Given the description of an element on the screen output the (x, y) to click on. 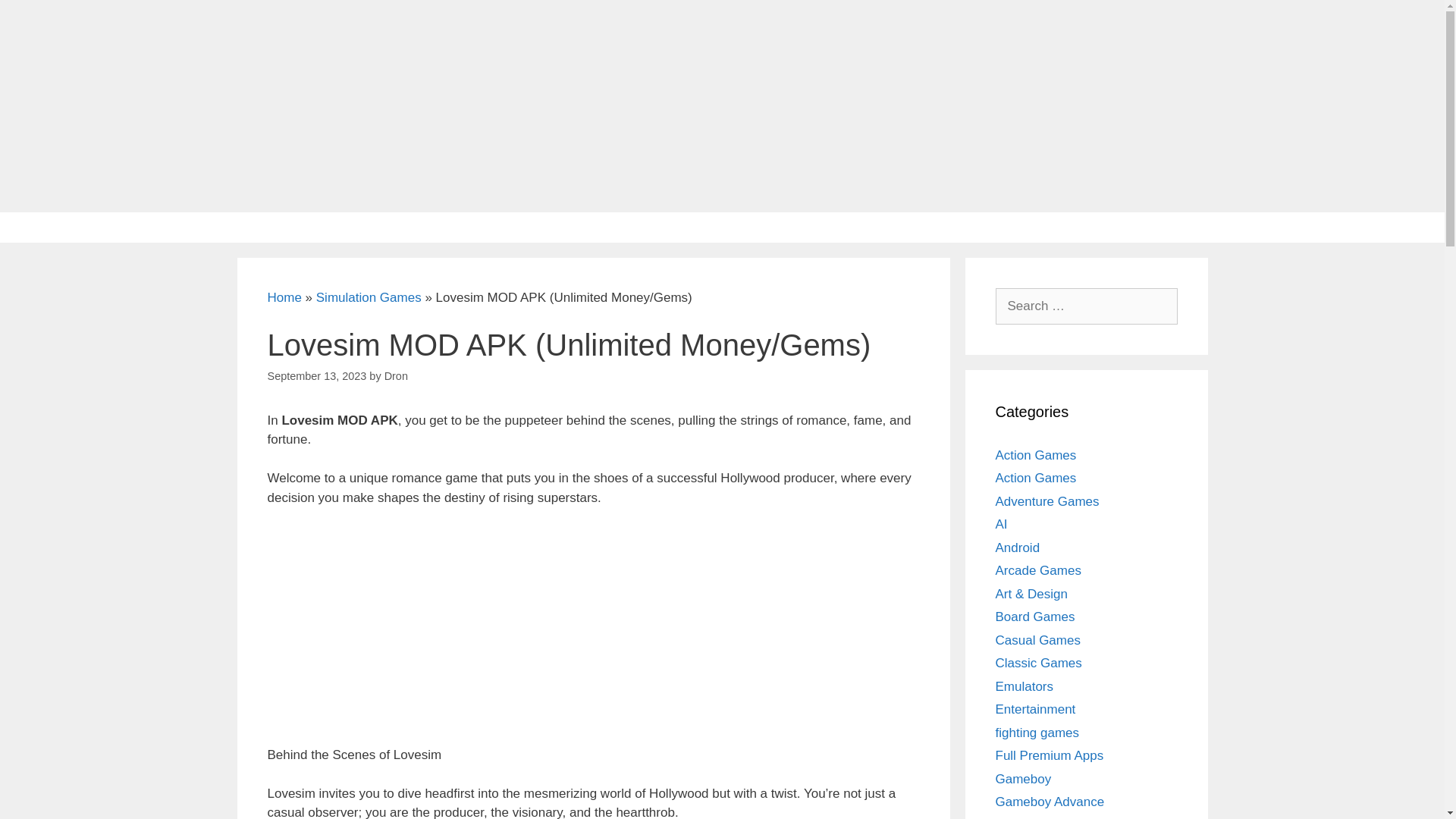
Board Games (1034, 616)
Classic Games (1037, 663)
Simulation Games (368, 297)
Gameboy (1022, 779)
Gameboy Advance (1048, 801)
Casual Games (1037, 639)
Adventure Games (1046, 501)
Gameboy Advance (1048, 818)
Search for: (1085, 306)
Entertainment (1034, 708)
Action Games (1034, 454)
fighting games (1036, 731)
Full Premium Apps (1048, 755)
